Given the description of an element on the screen output the (x, y) to click on. 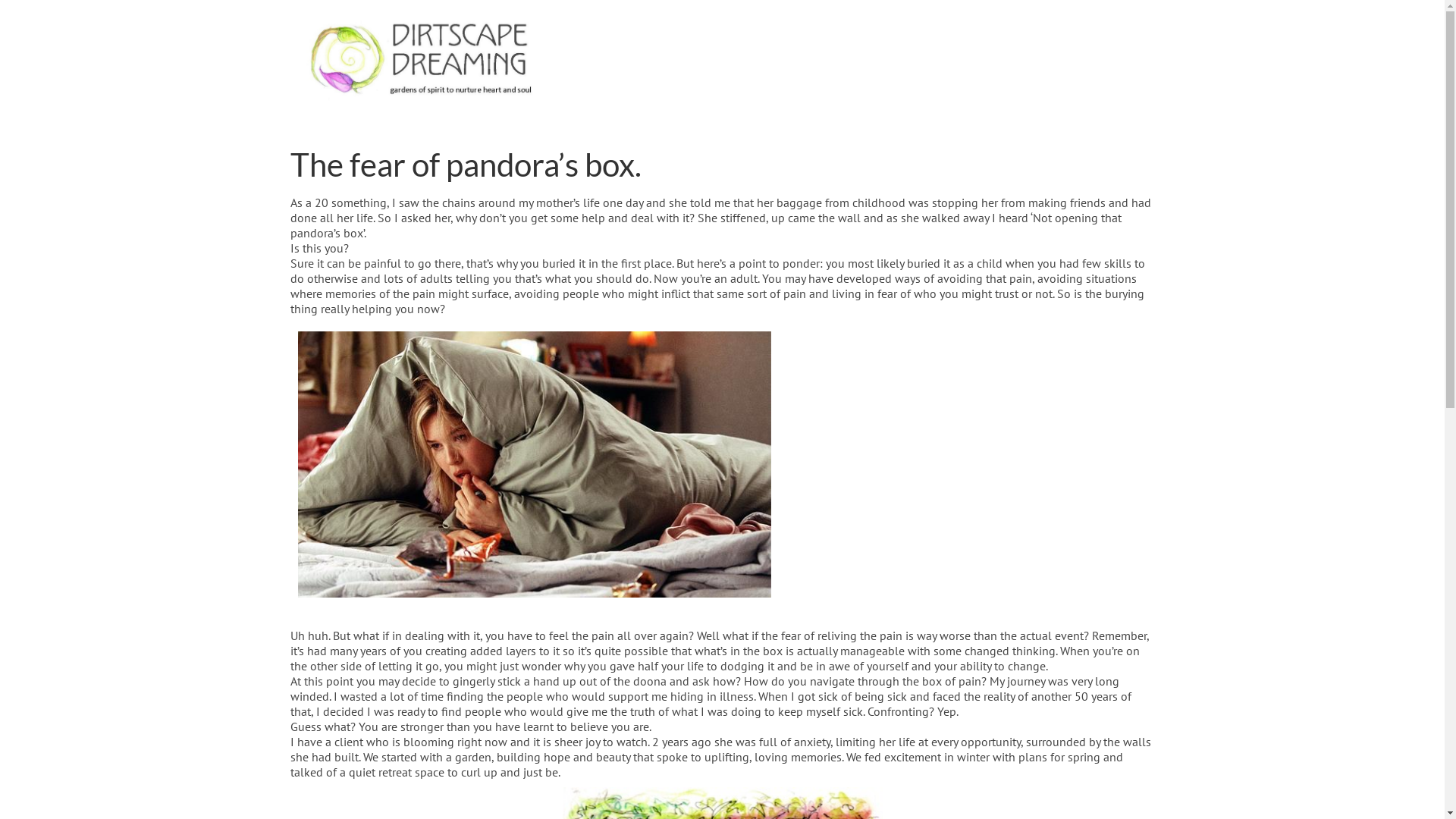
Dirtscape Dreaming Element type: hover (425, 60)
